Given the description of an element on the screen output the (x, y) to click on. 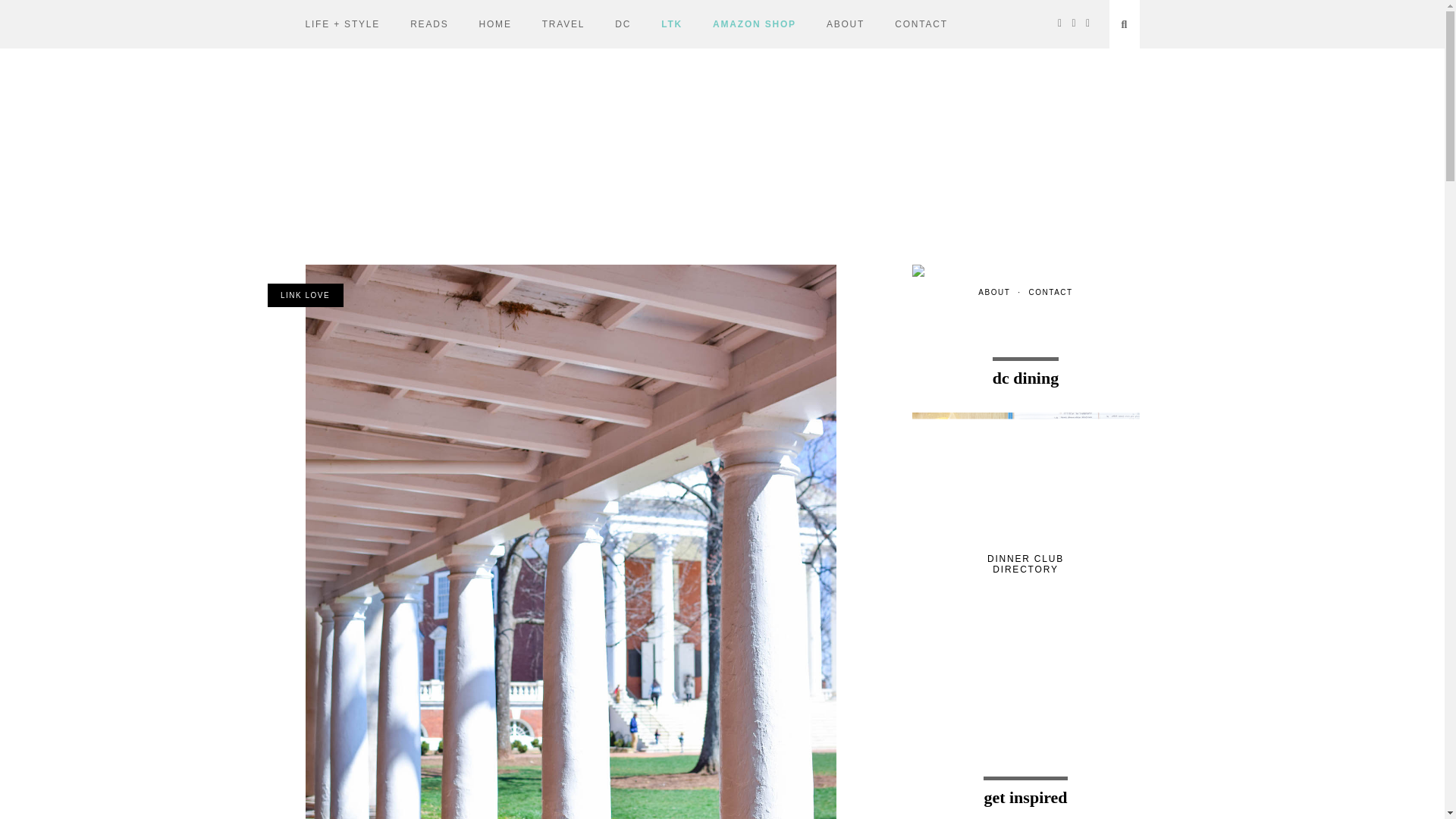
LINK LOVE (304, 295)
ABOUT (845, 23)
AMAZON SHOP (754, 23)
HOME (495, 23)
READS (429, 23)
TRAVEL (563, 23)
View all posts in link love (304, 295)
CONTACT (921, 23)
